Given the description of an element on the screen output the (x, y) to click on. 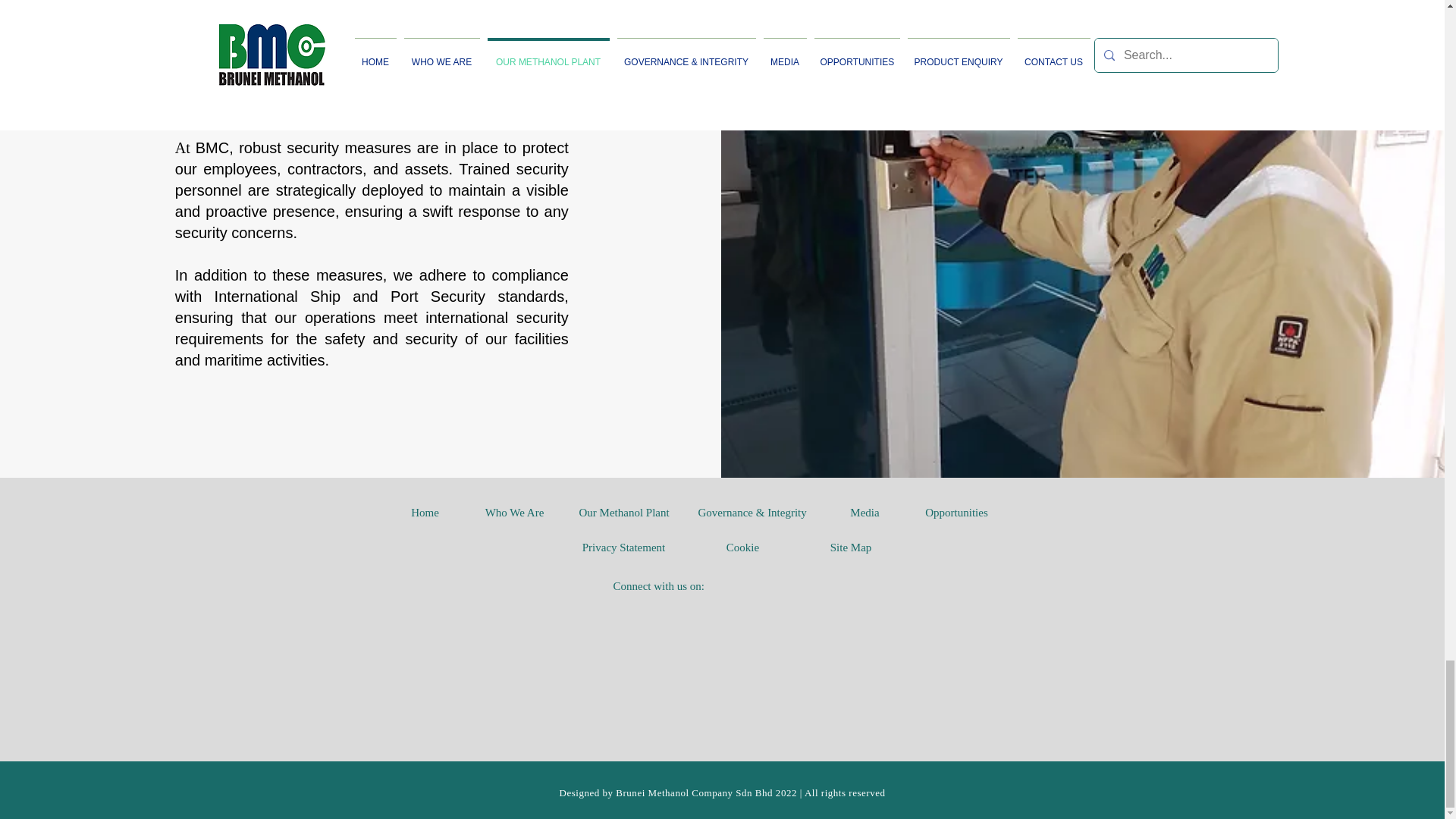
Who We Are (514, 512)
Our Methanol Plant (624, 512)
Home (425, 512)
Cookie (742, 547)
Media (865, 512)
Privacy Statement (623, 547)
